Given the description of an element on the screen output the (x, y) to click on. 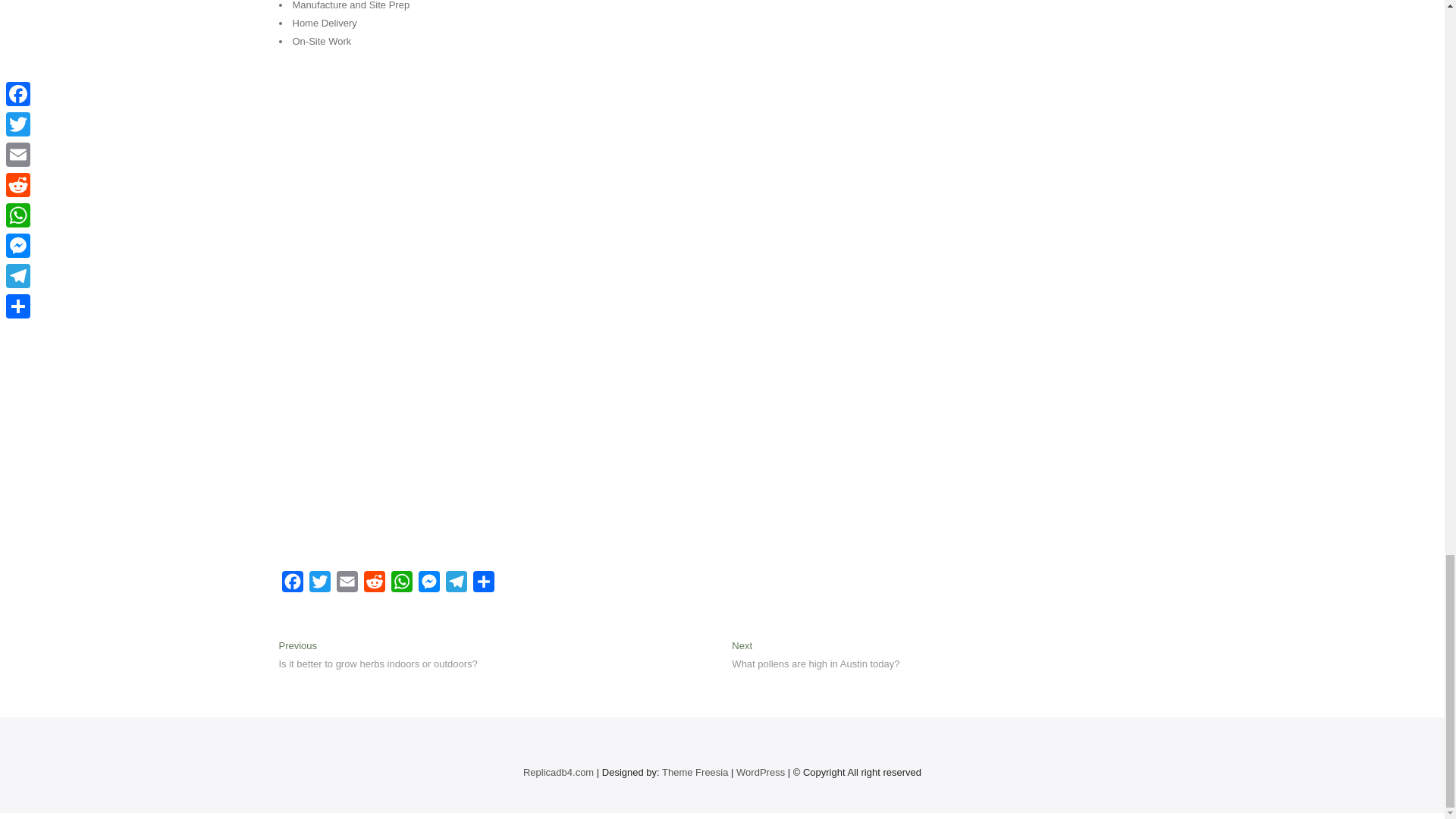
Telegram (456, 584)
Theme Freesia (815, 656)
Twitter (695, 772)
Facebook (319, 584)
Email (292, 584)
Email (347, 584)
Facebook (347, 584)
Messenger (292, 584)
WhatsApp (428, 584)
Replicadb4.com (401, 584)
WhatsApp (558, 772)
Reddit (401, 584)
Messenger (374, 584)
